Given the description of an element on the screen output the (x, y) to click on. 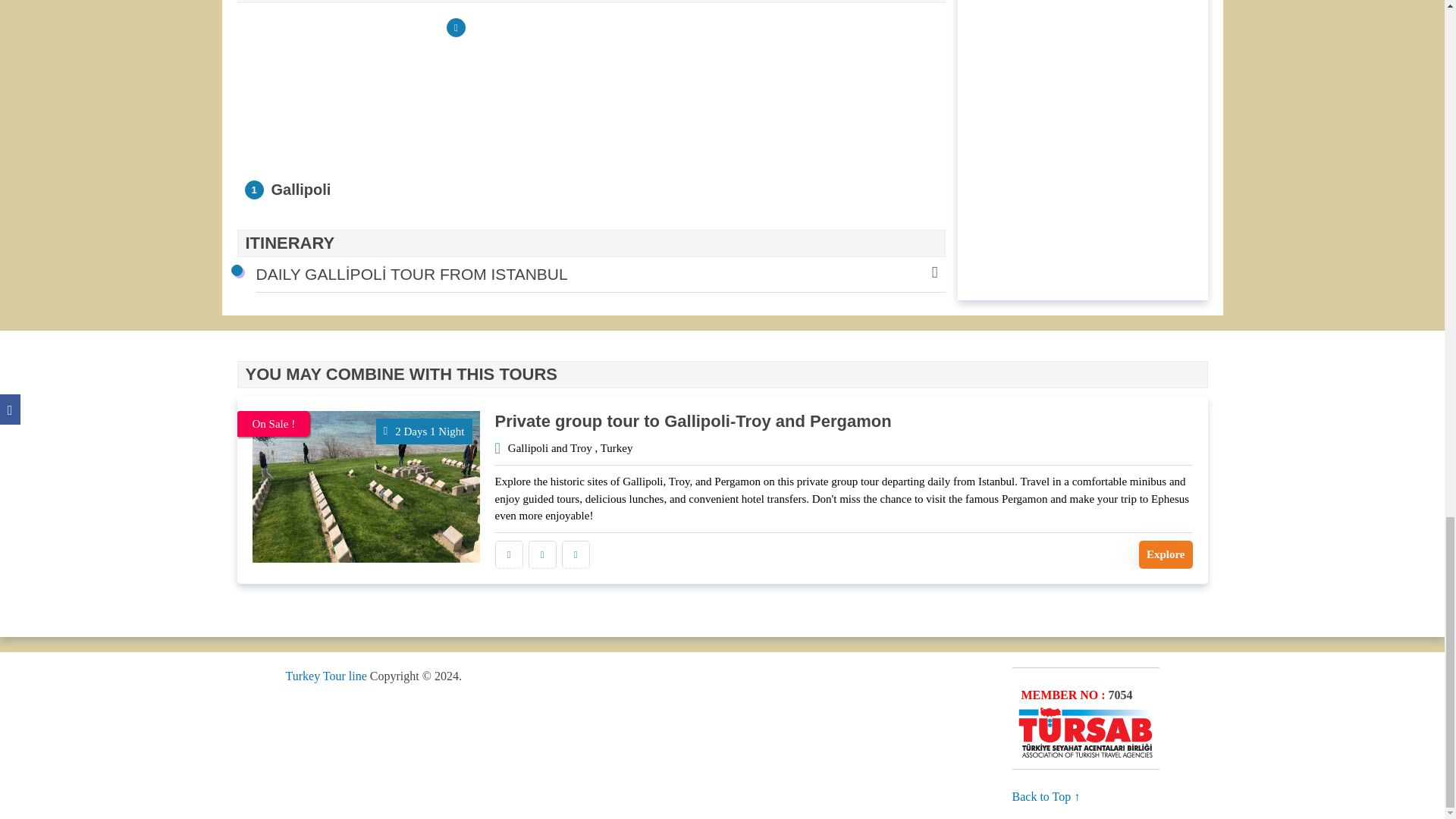
Most effordable tours and minibuses for your trips (325, 675)
Entrance fees (574, 554)
Private group tour to Gallipoli-Troy and Pergamon (693, 420)
Drop of Hotel (541, 554)
3 Star Hotel (508, 554)
tursab logo turkey (1084, 733)
